Given the description of an element on the screen output the (x, y) to click on. 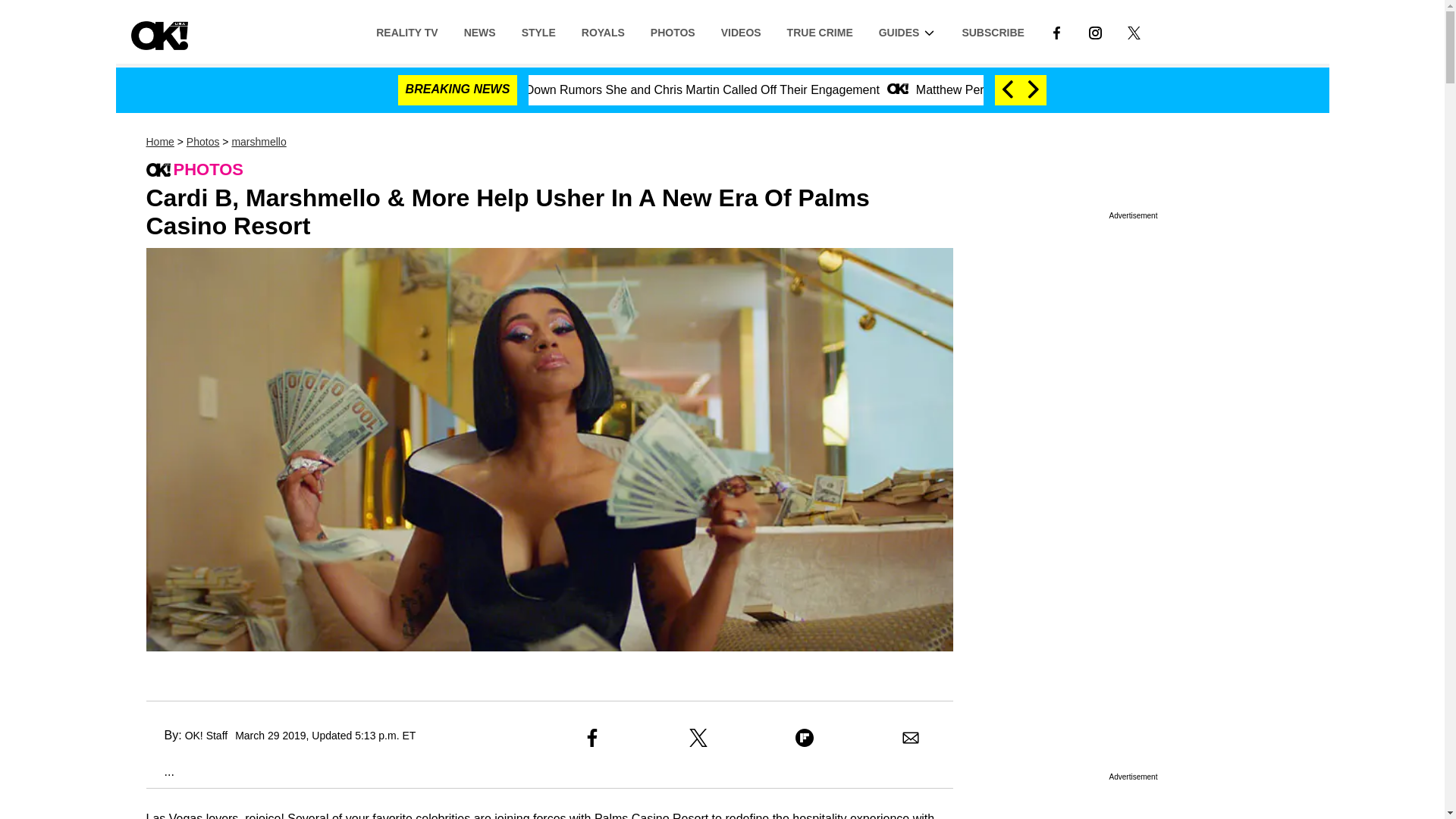
VIDEOS (740, 31)
Share to X (697, 737)
Share to Flipboard (803, 737)
NEWS (479, 31)
LINK TO FACEBOOK (1055, 31)
REALITY TV (405, 31)
Home (159, 141)
Photos (202, 141)
TRUE CRIME (820, 31)
PHOTOS (672, 31)
